Given the description of an element on the screen output the (x, y) to click on. 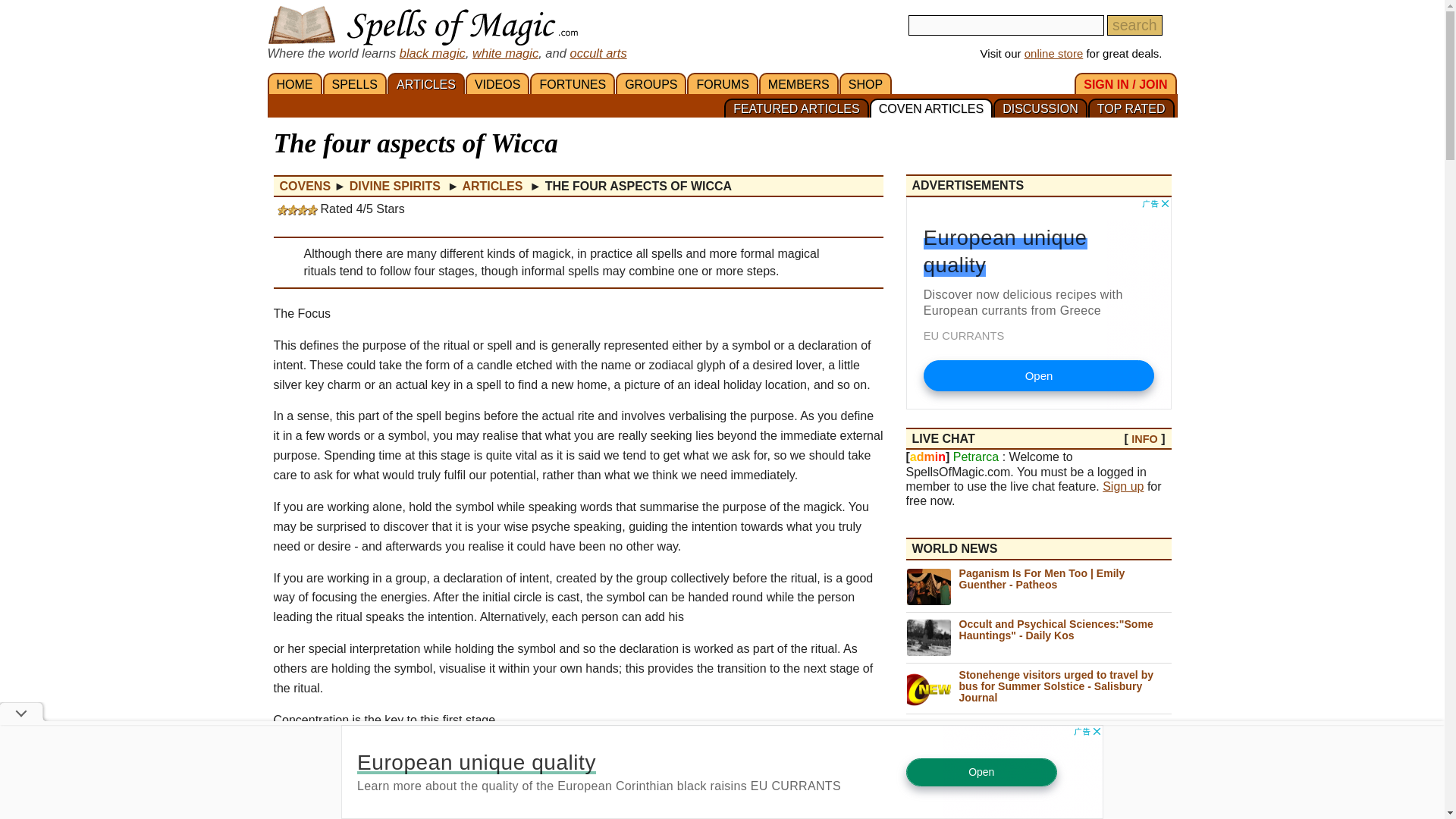
occult arts (597, 52)
search (1133, 25)
online store (1054, 52)
black magic (431, 52)
search (1133, 25)
white magic (504, 52)
